Given the description of an element on the screen output the (x, y) to click on. 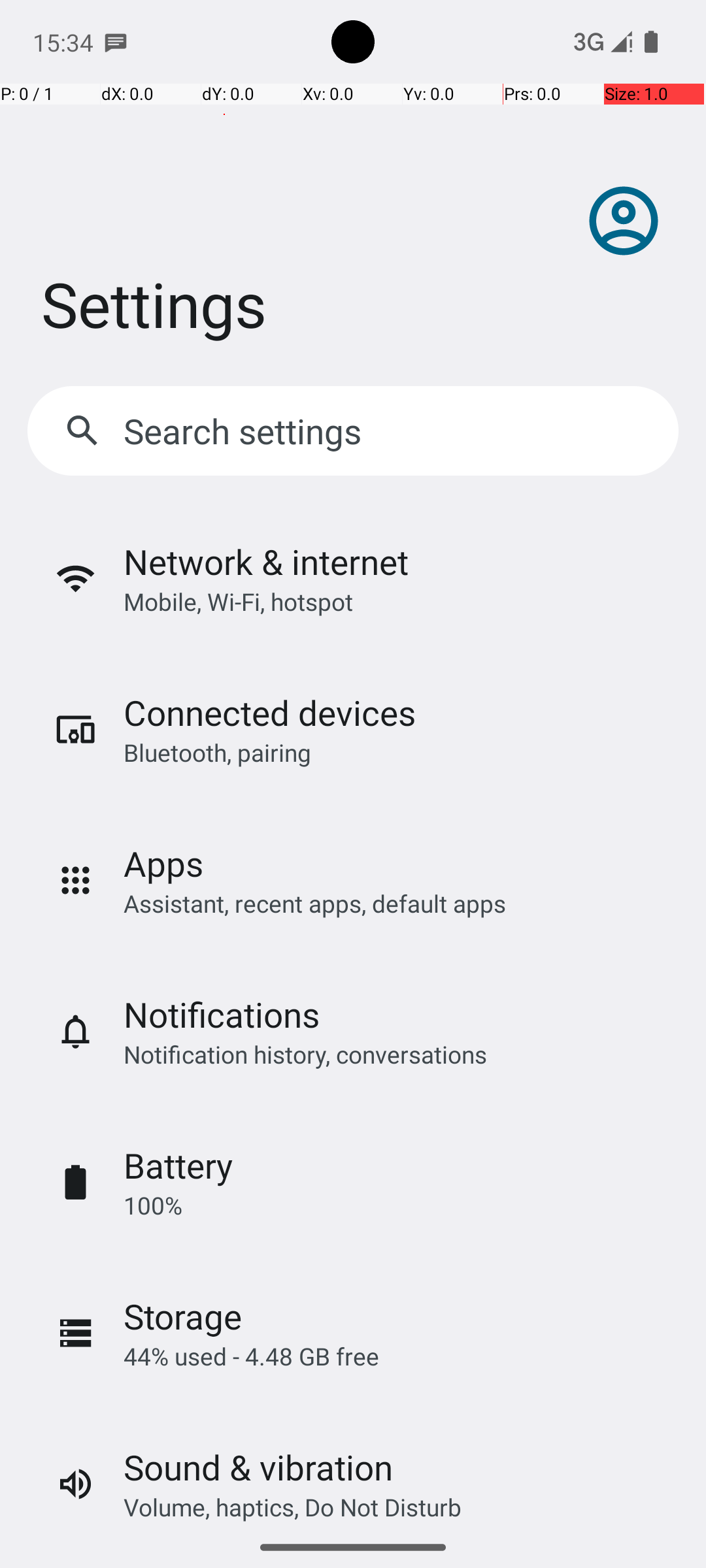
44% used - 4.48 GB free Element type: android.widget.TextView (251, 1355)
